Given the description of an element on the screen output the (x, y) to click on. 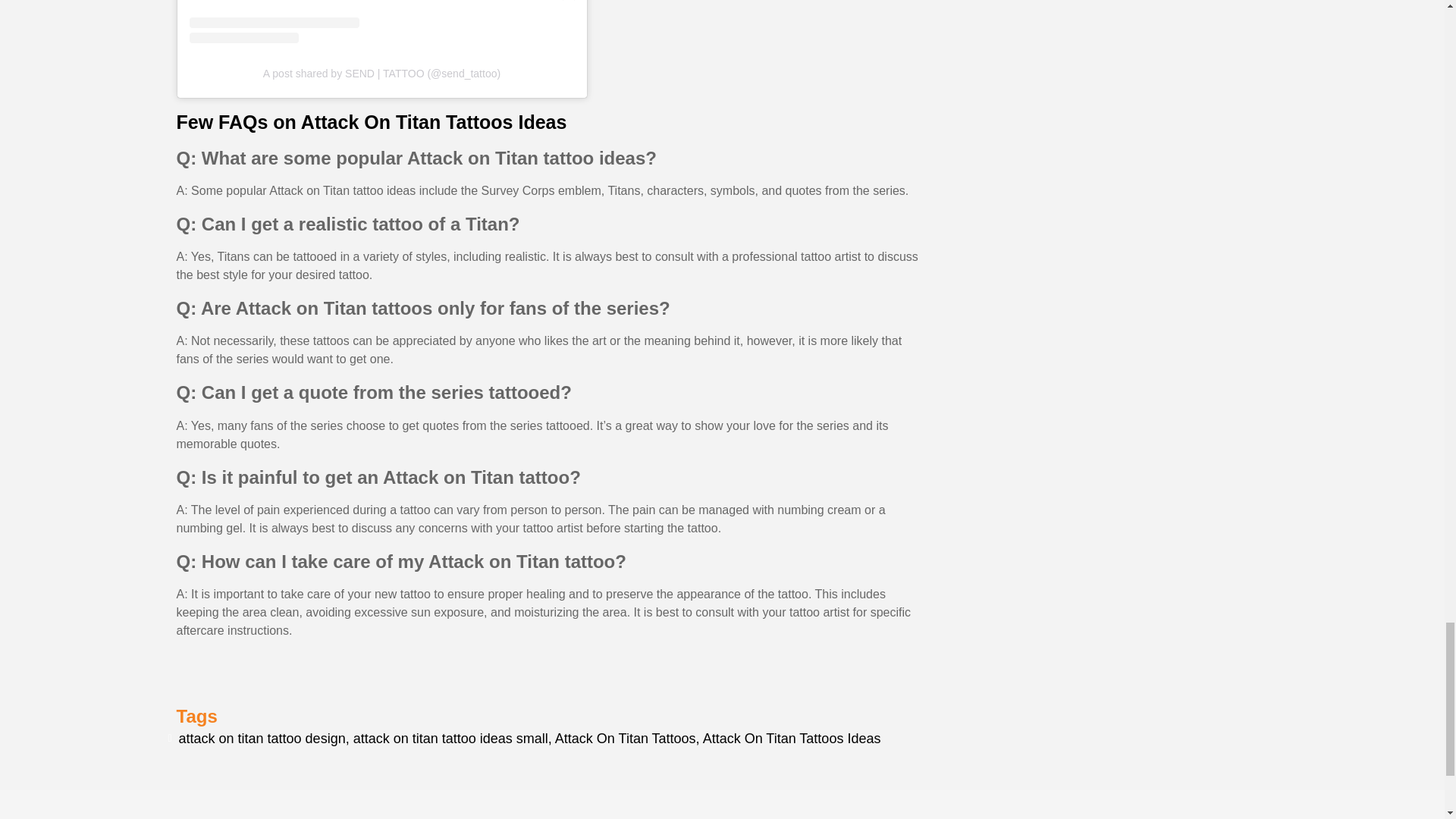
View this post on Instagram (382, 22)
Attack On Titan Tattoos Ideas (791, 738)
Attack On Titan Tattoos (624, 738)
attack on titan tattoo design (262, 738)
attack on titan tattoo ideas small (450, 738)
